Given the description of an element on the screen output the (x, y) to click on. 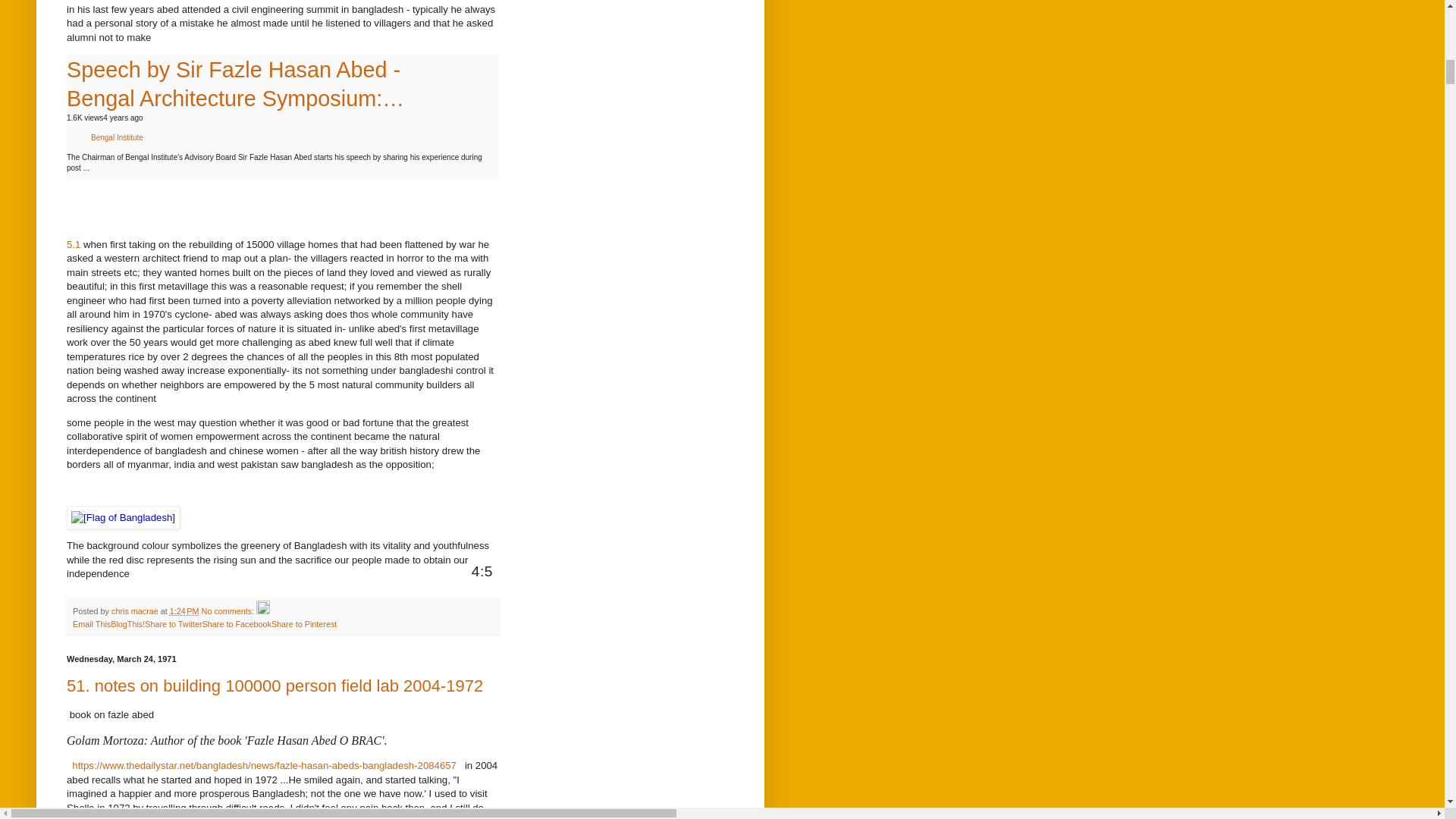
Edit Post (262, 610)
Share to Pinterest (303, 623)
Share to Facebook (236, 623)
No comments: (229, 610)
BlogThis! (127, 623)
chris macrae (136, 610)
Email This (91, 623)
51. notes on building 100000 person field lab 2004-1972 (274, 685)
Share to Twitter (173, 623)
5.1 (73, 244)
Share to Pinterest (303, 623)
permanent link (184, 610)
Email This (91, 623)
Share to Twitter (173, 623)
